Given the description of an element on the screen output the (x, y) to click on. 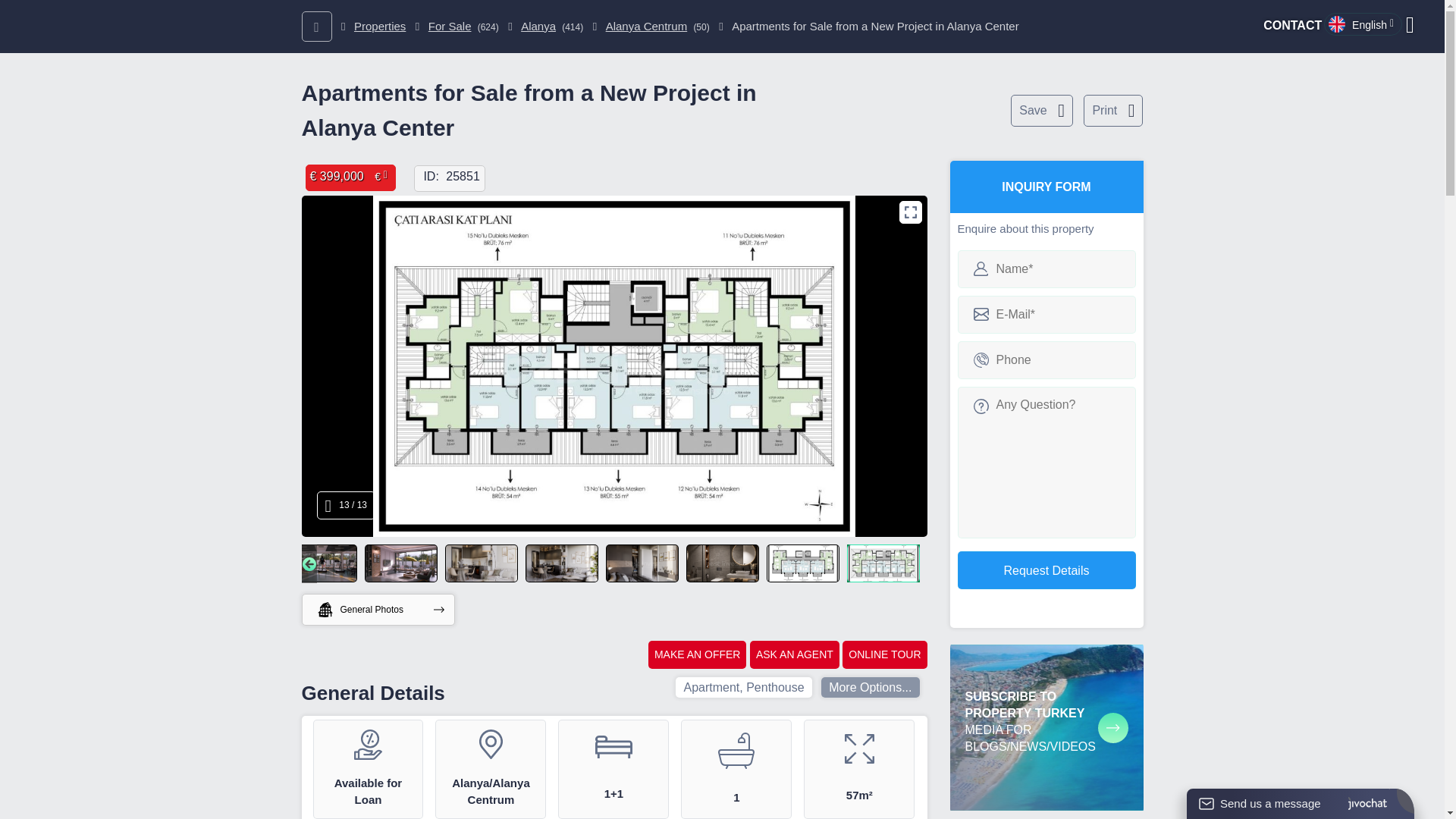
Request Details (1045, 569)
CONTACT (1292, 24)
General Photos (377, 609)
